Given the description of an element on the screen output the (x, y) to click on. 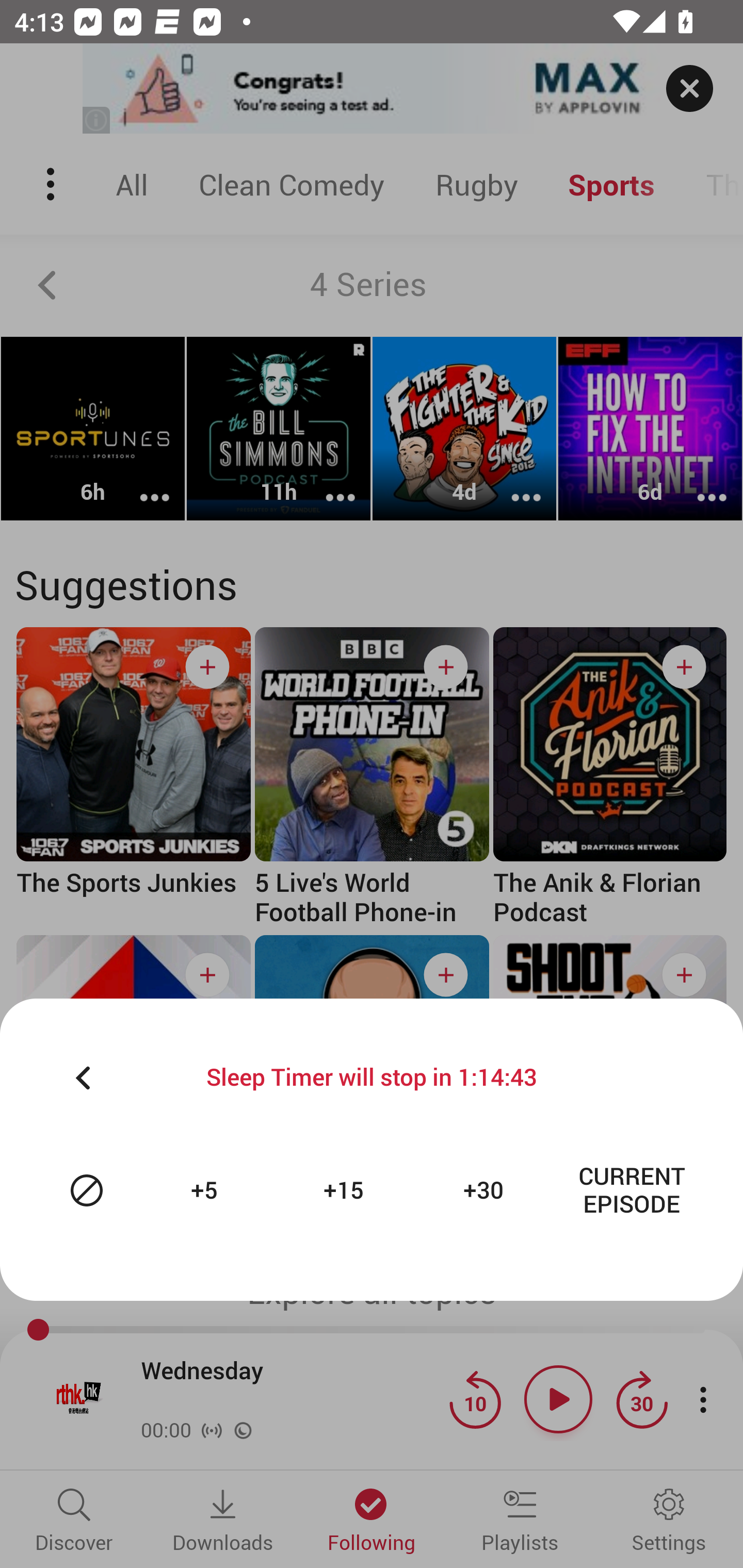
Reset (86, 1190)
+5  (206, 1190)
+15  (346, 1190)
+30  (486, 1190)
CURRENT
EPISODE (631, 1190)
